Given the description of an element on the screen output the (x, y) to click on. 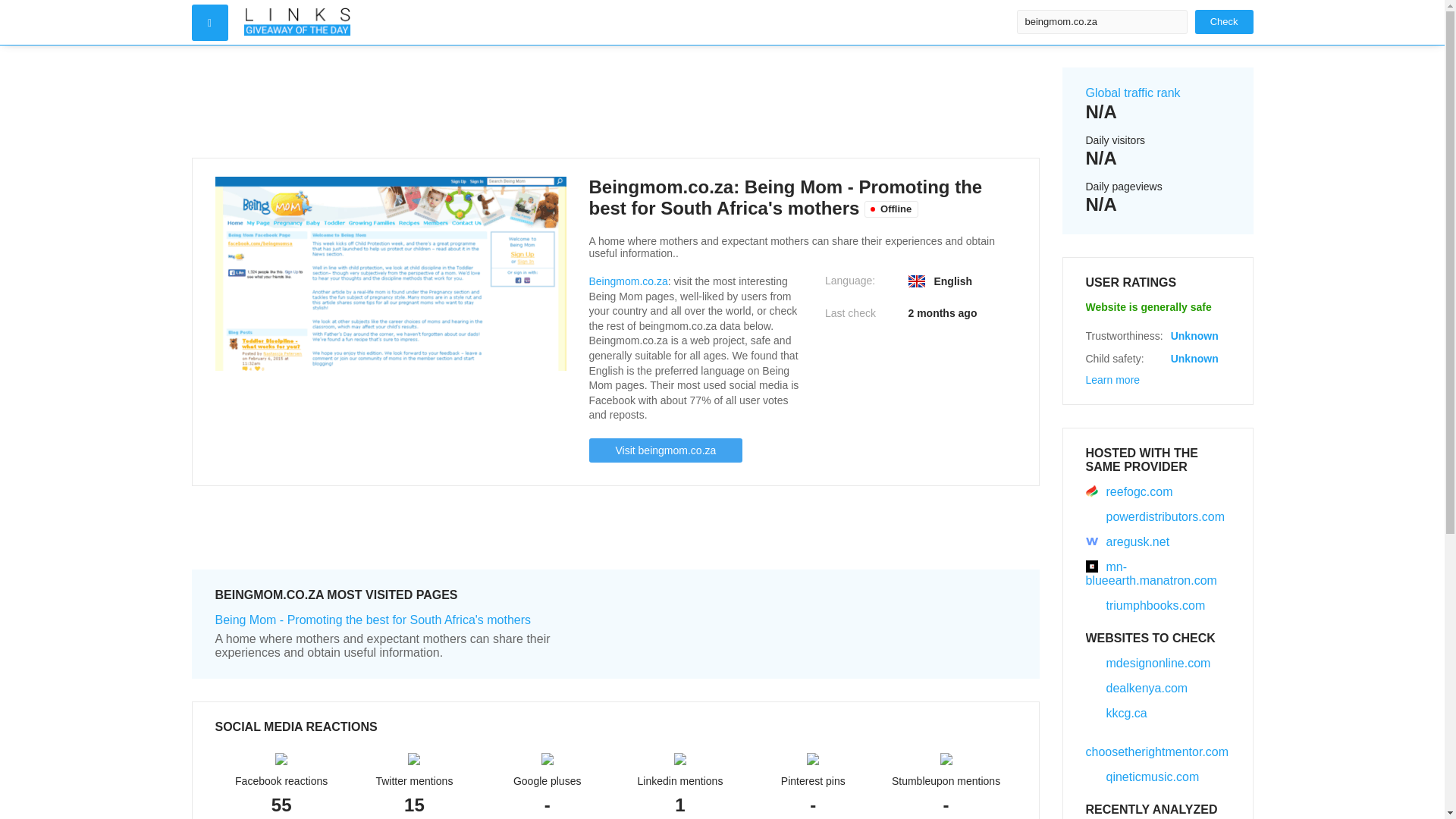
Global traffic rank (1133, 92)
beingmom.co.za (1101, 21)
qineticmusic.com (1142, 776)
mdesignonline.com (1148, 662)
Unknown (1194, 336)
Visit beingmom.co.za (665, 450)
Beingmom.co.za (627, 281)
dealkenya.com (1137, 687)
Learn more (1113, 379)
triumphbooks.com (1145, 604)
powerdistributors.com (1155, 516)
beingmom.co.za (1101, 21)
mn-blueearth.manatron.com (1151, 573)
Unknown (1194, 358)
Check (1224, 21)
